Given the description of an element on the screen output the (x, y) to click on. 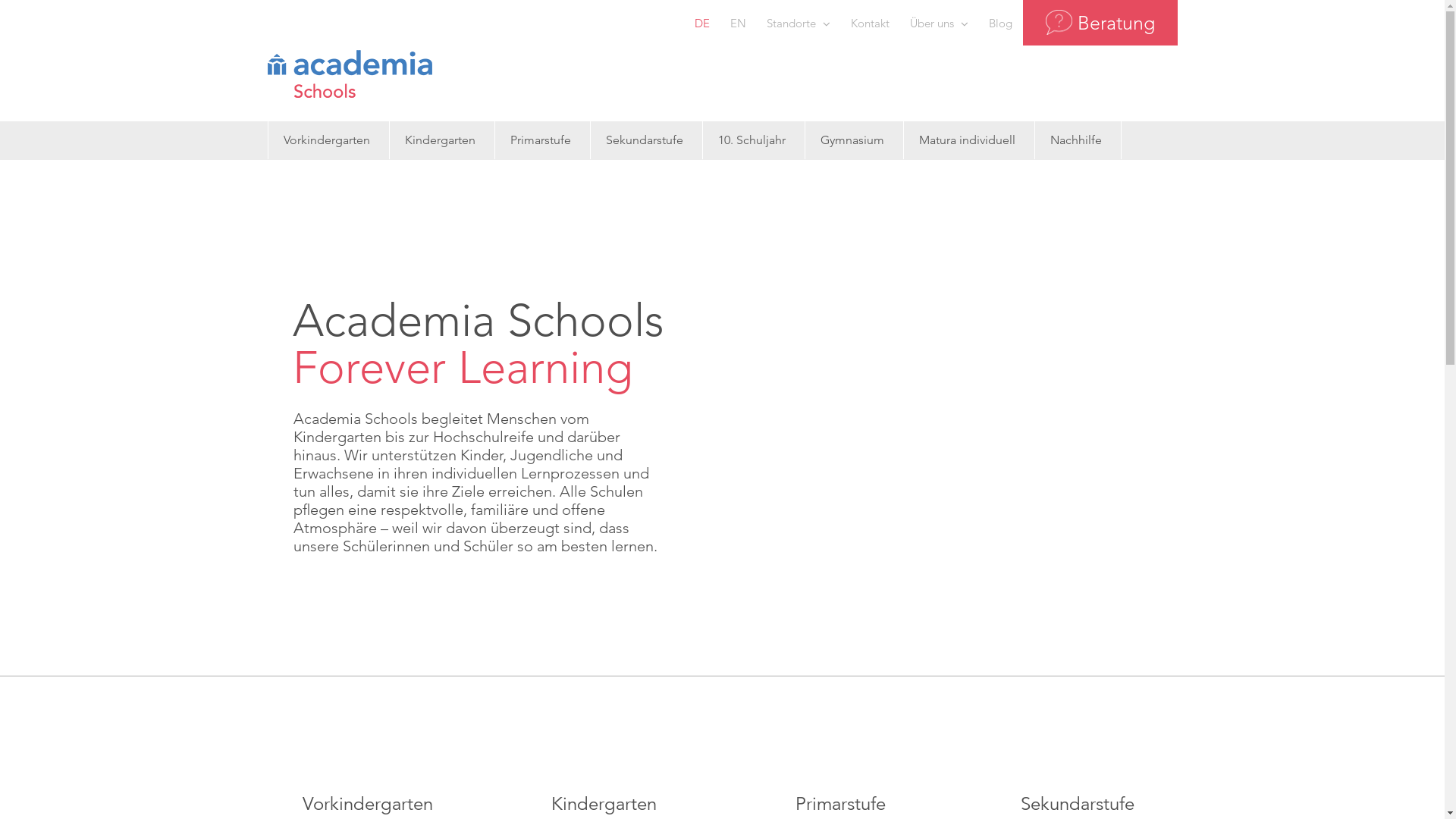
10. Schuljahr Element type: text (750, 140)
Primarstufe Element type: text (539, 140)
prekindergarten Element type: hover (366, 737)
EN Element type: text (738, 22)
Kindergarten Element type: text (439, 140)
Standorte Element type: text (798, 22)
Nachhilfe Element type: text (1075, 140)
primarstufe Element type: hover (840, 737)
kindergarten Element type: hover (603, 737)
Matura individuell Element type: text (967, 140)
sekundarstufe Element type: hover (1076, 737)
Blog Element type: text (999, 22)
Gymnasium Element type: text (852, 140)
Kontakt Element type: text (869, 22)
Vorkindergarten Element type: text (326, 140)
Beratung Element type: text (1099, 22)
DE Element type: text (701, 22)
Sekundarstufe Element type: text (643, 140)
